Given the description of an element on the screen output the (x, y) to click on. 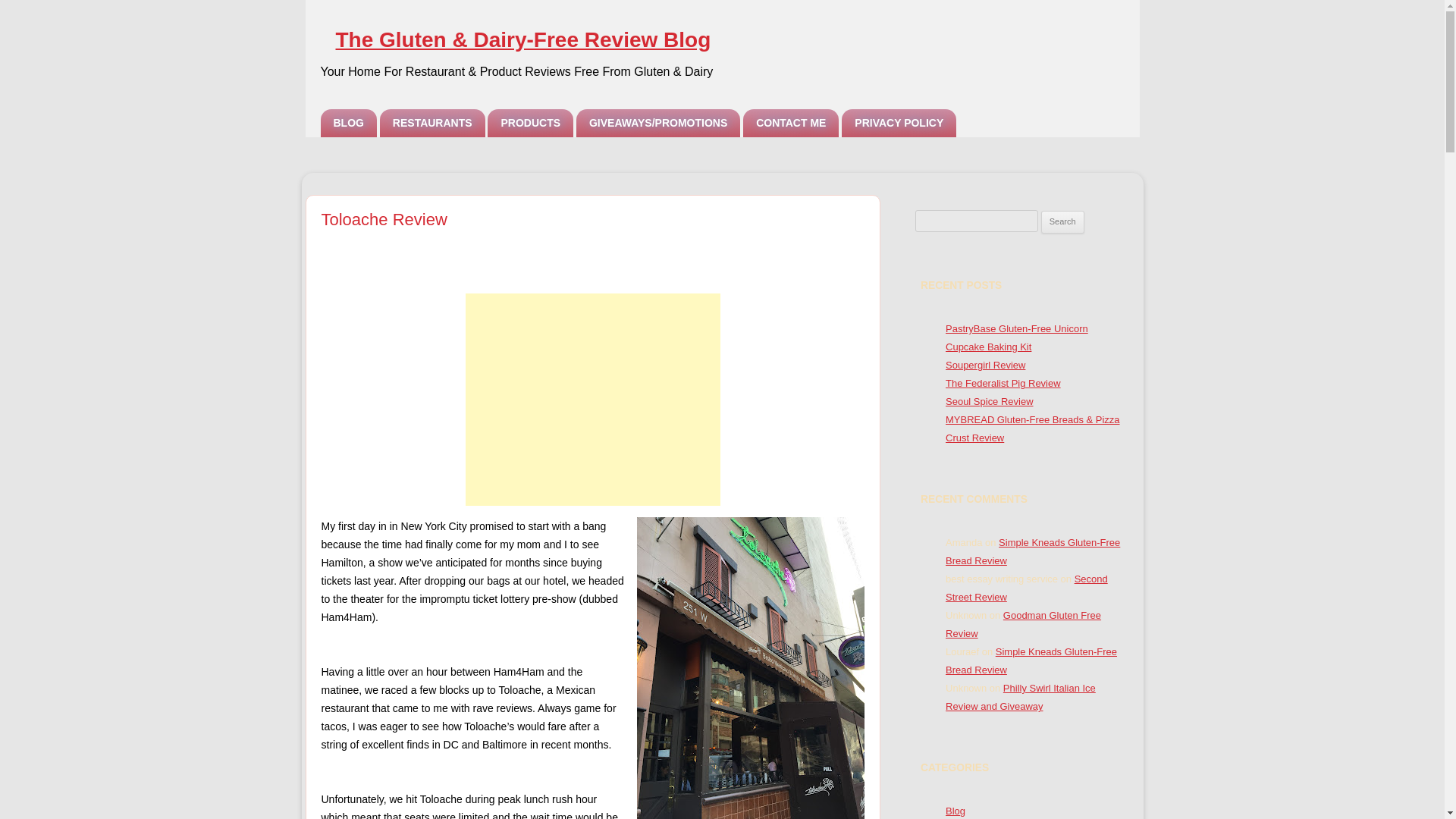
Simple Kneads Gluten-Free Bread Review (1030, 660)
Second Street Review (1026, 587)
Soupergirl Review (984, 365)
Goodman Gluten Free Review (1022, 624)
RESTAURANTS (432, 122)
CONTACT ME (790, 122)
Blog (954, 810)
Search (1062, 221)
